Given the description of an element on the screen output the (x, y) to click on. 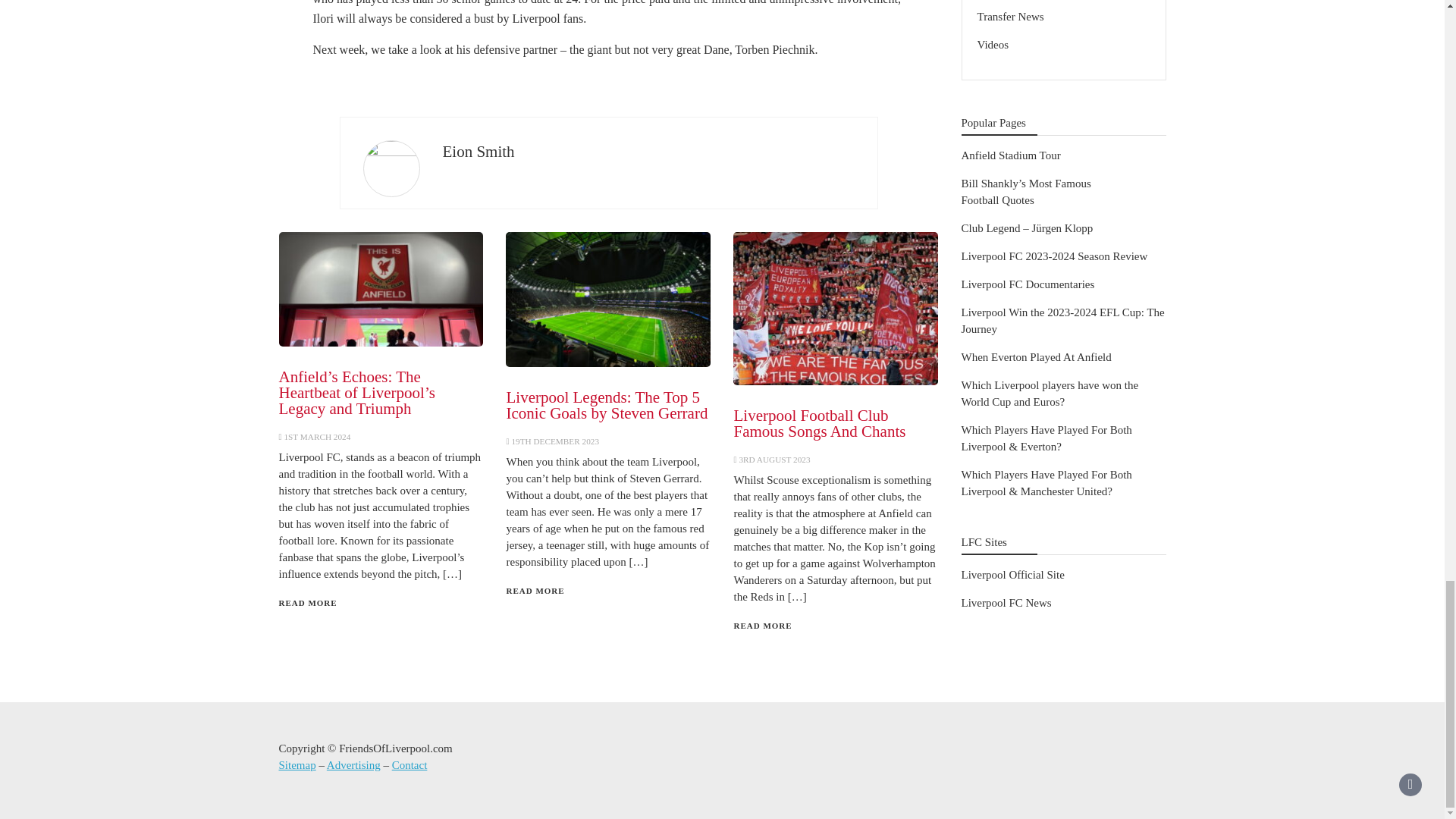
3RD AUGUST 2023 (773, 459)
1ST MARCH 2024 (316, 436)
Liverpool Football Club Famous Songs And Chants (819, 423)
Eion Smith (478, 151)
19TH DECEMBER 2023 (554, 440)
READ MORE (762, 624)
READ MORE (308, 602)
READ MORE (534, 590)
Liverpool Legends: The Top 5 Iconic Goals by Steven Gerrard (606, 405)
